Given the description of an element on the screen output the (x, y) to click on. 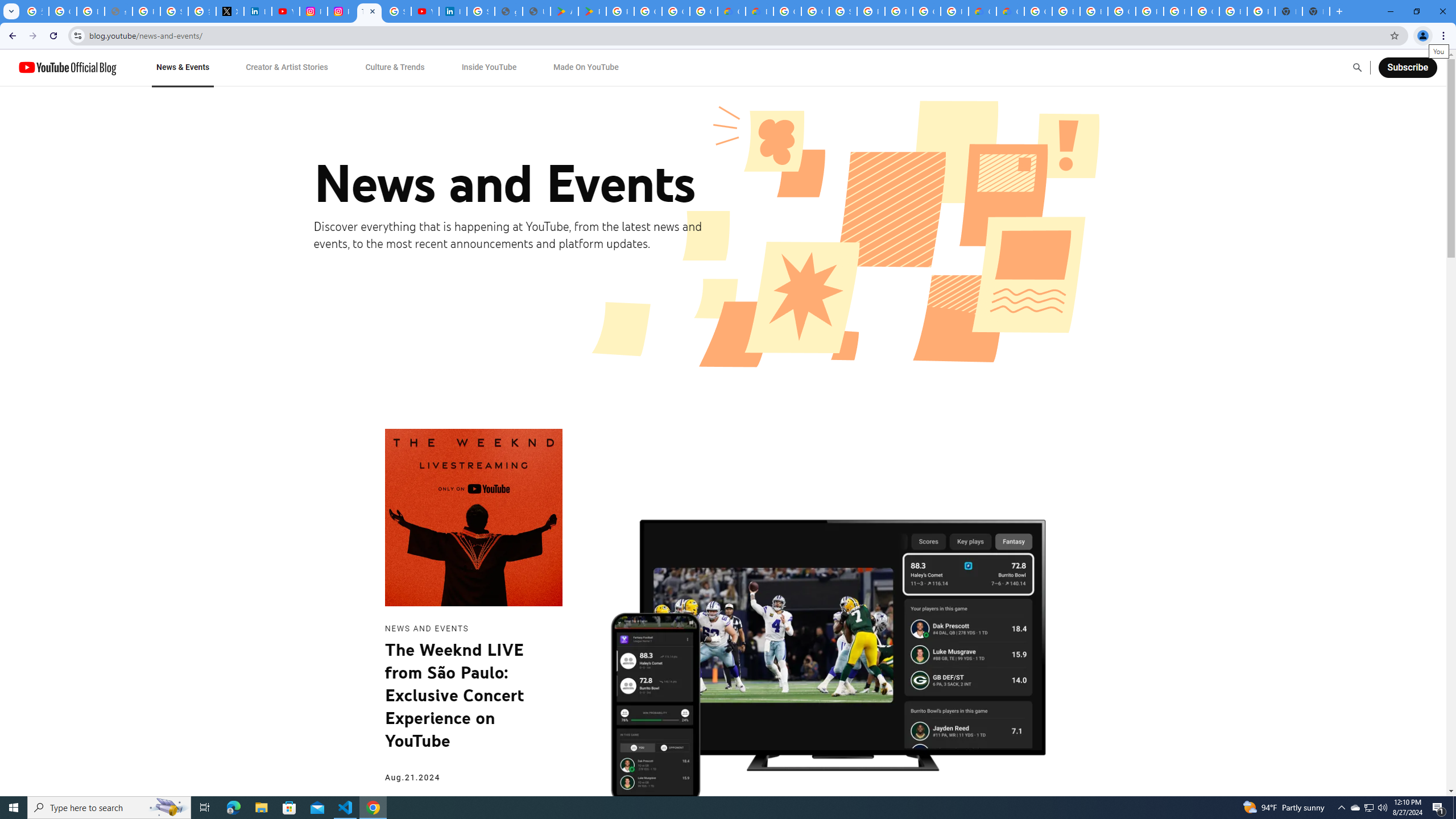
News & Events (182, 67)
Google Workspace - Specific Terms (675, 11)
Subscribe (1407, 67)
Privacy Help Center - Policies Help (146, 11)
Browse Chrome as a guest - Computer - Google Chrome Help (1093, 11)
YouTube Content Monetization Policies - How YouTube Works (285, 11)
User Details (536, 11)
